Given the description of an element on the screen output the (x, y) to click on. 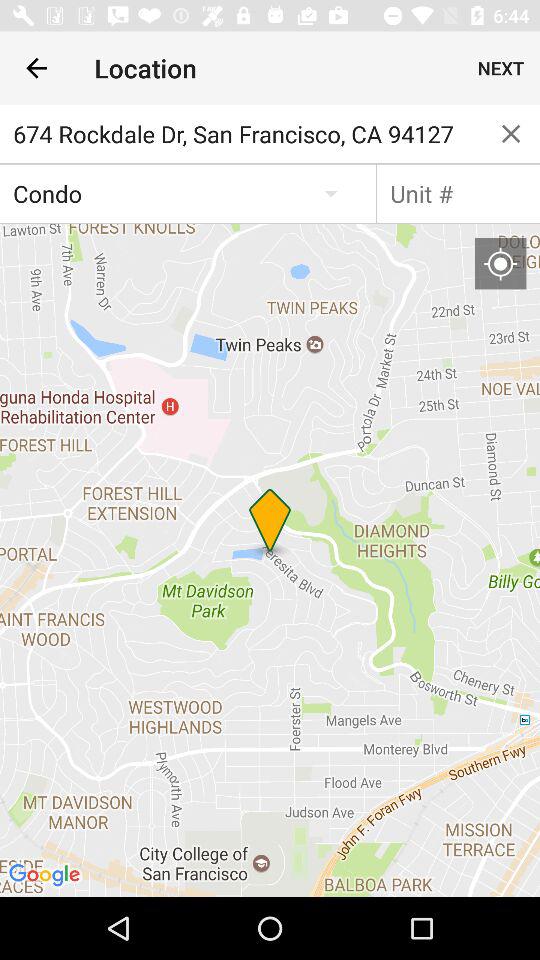
select the icon at the center (270, 560)
